Given the description of an element on the screen output the (x, y) to click on. 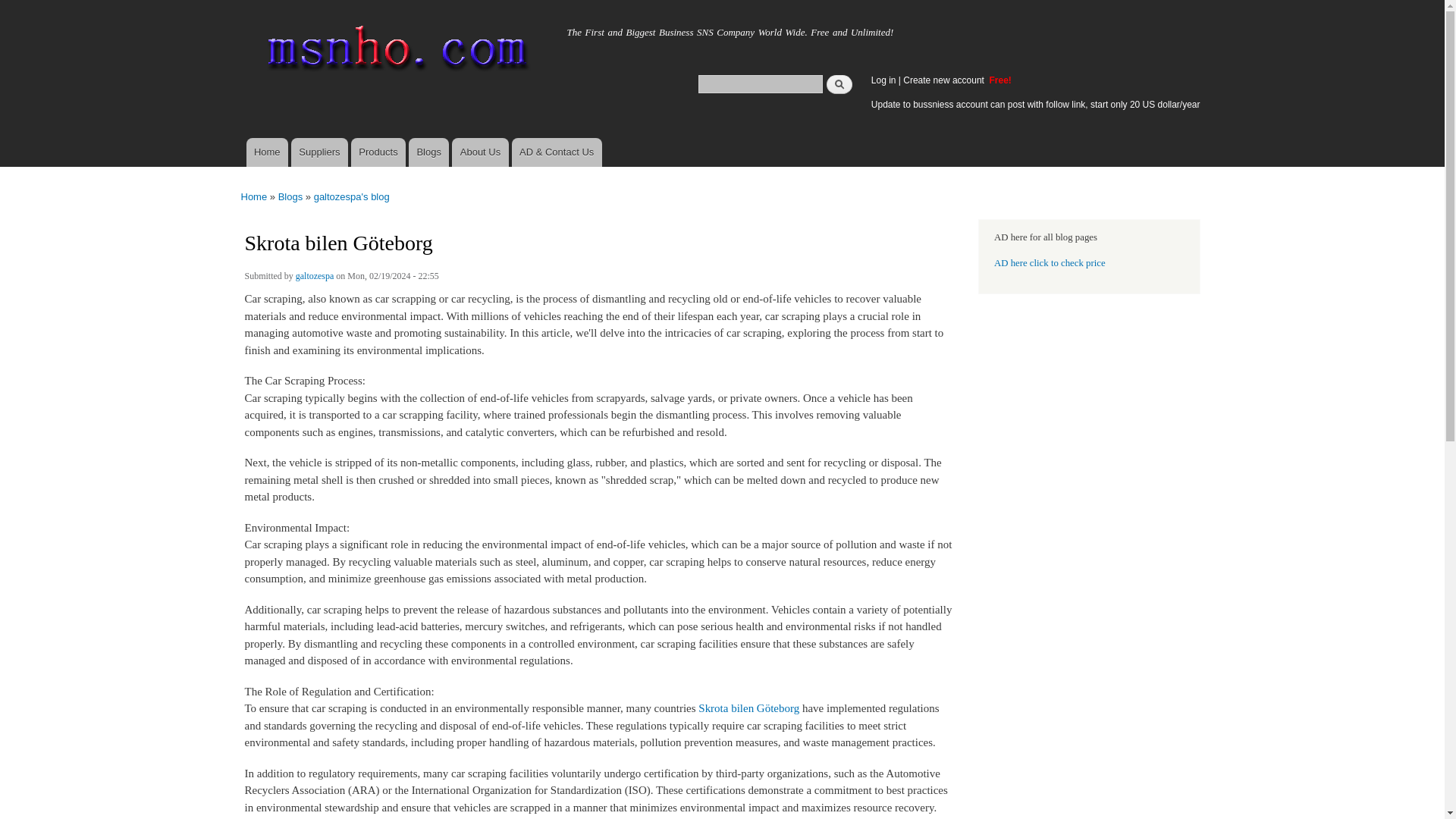
Home (282, 28)
Contact us (557, 152)
View user profile. (314, 277)
Search (839, 83)
Suppliers (319, 152)
AD here click to check price (1049, 262)
galtozespa (314, 277)
Enter the terms you wish to search for. (760, 83)
Skip to main content (690, 1)
Home (394, 51)
